Given the description of an element on the screen output the (x, y) to click on. 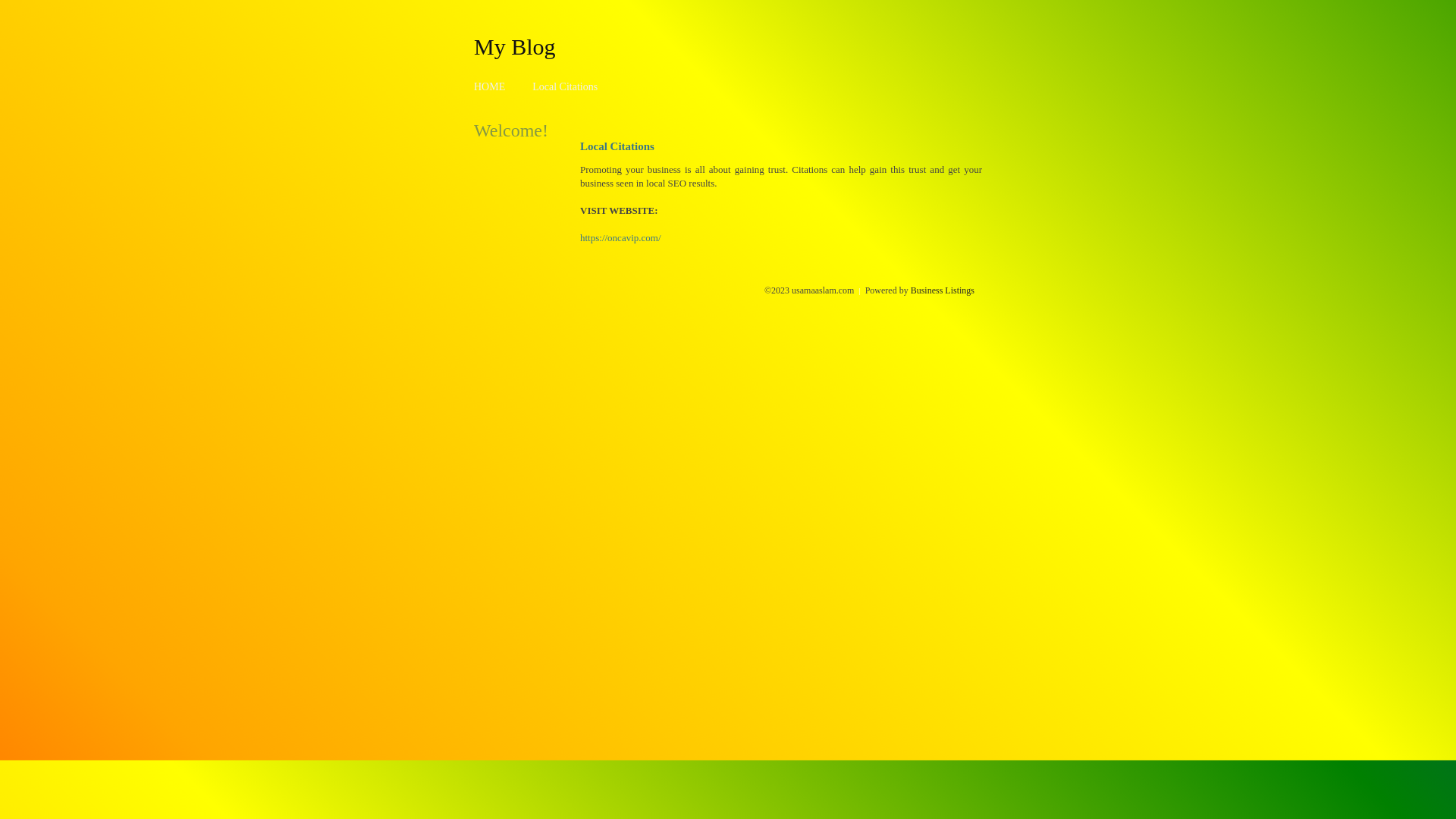
https://oncavip.com/ Element type: text (620, 237)
Business Listings Element type: text (942, 290)
HOME Element type: text (489, 86)
Local Citations Element type: text (564, 86)
My Blog Element type: text (514, 46)
